Given the description of an element on the screen output the (x, y) to click on. 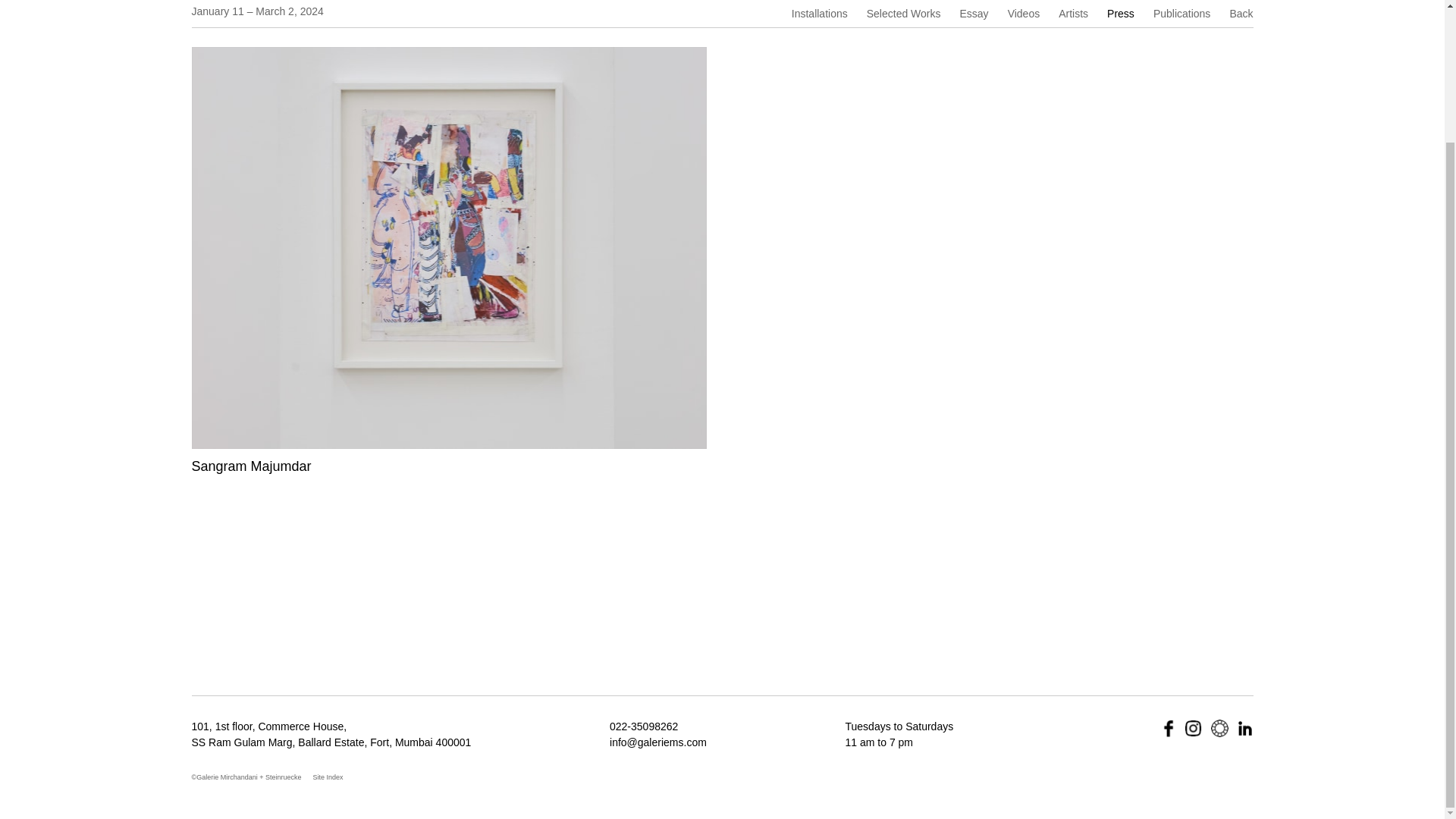
Installations (819, 13)
Back (1240, 13)
Artists (1072, 13)
Press (1120, 13)
Site Index (327, 777)
Essay (973, 13)
Selected Works (903, 13)
Videos (1024, 13)
Publications (1182, 13)
